Given the description of an element on the screen output the (x, y) to click on. 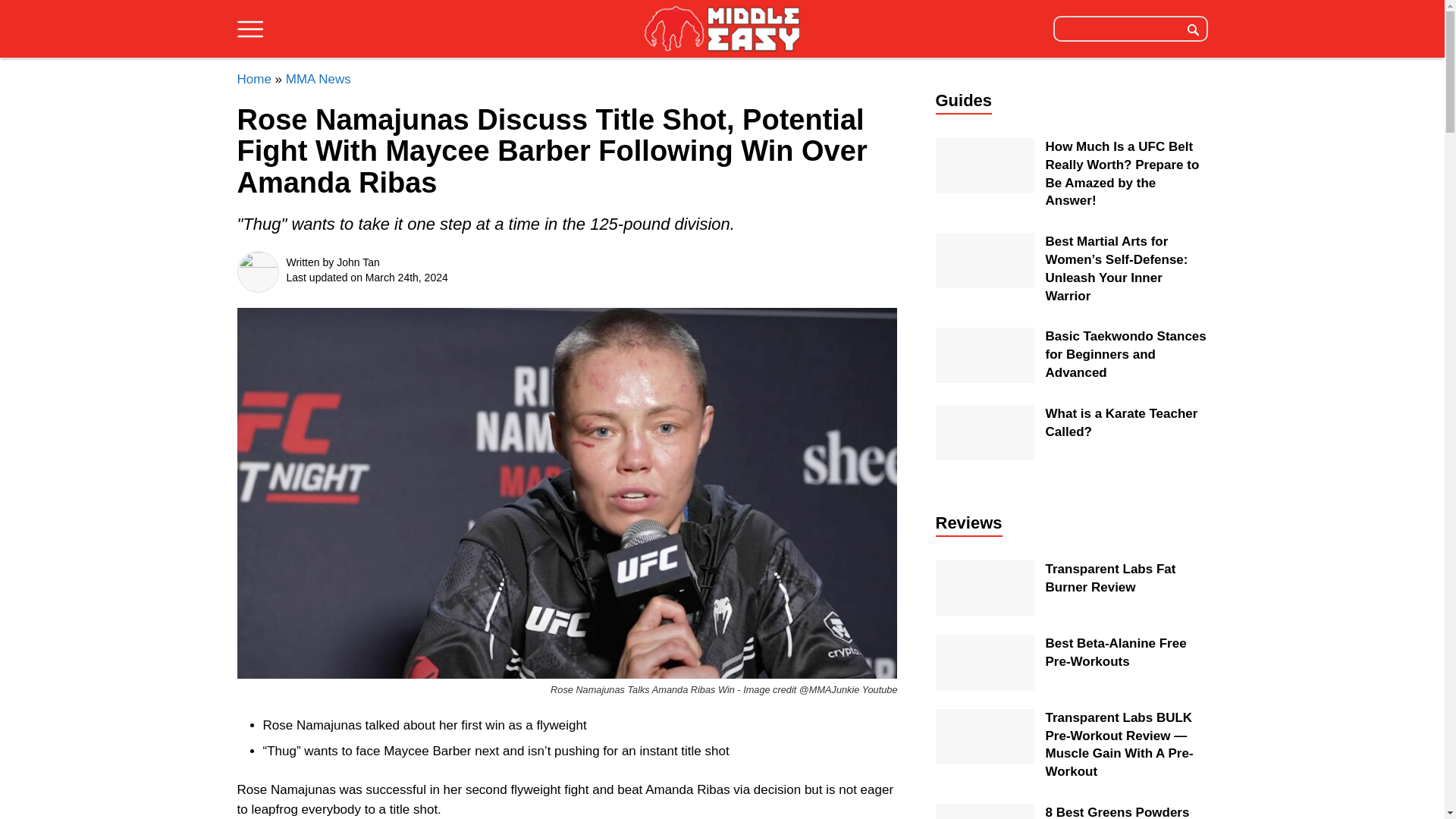
GO (1193, 28)
MiddleEasy (721, 28)
MiddleEasy (721, 29)
